Given the description of an element on the screen output the (x, y) to click on. 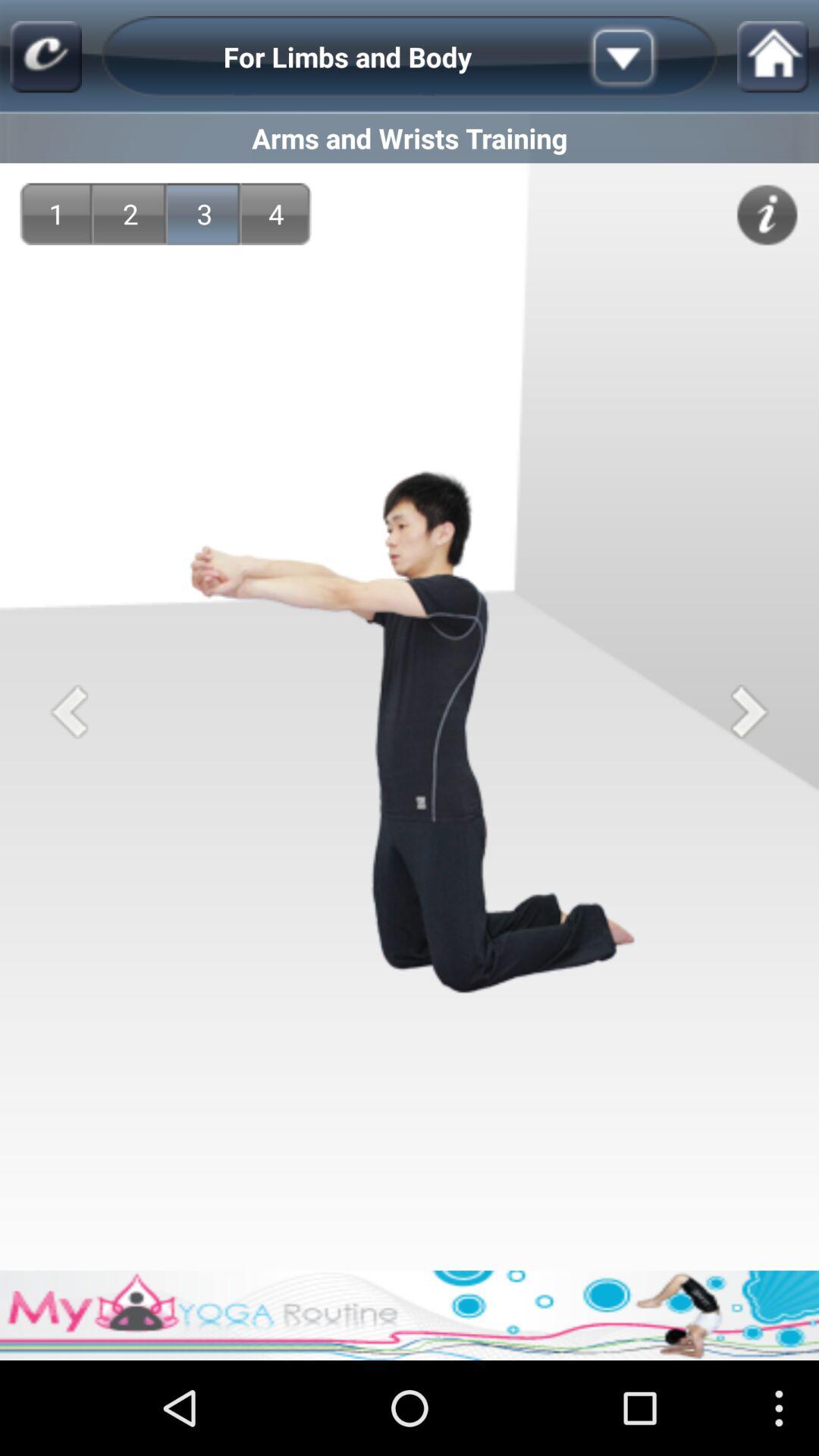
turn off the app above arms and wrists icon (45, 56)
